Given the description of an element on the screen output the (x, y) to click on. 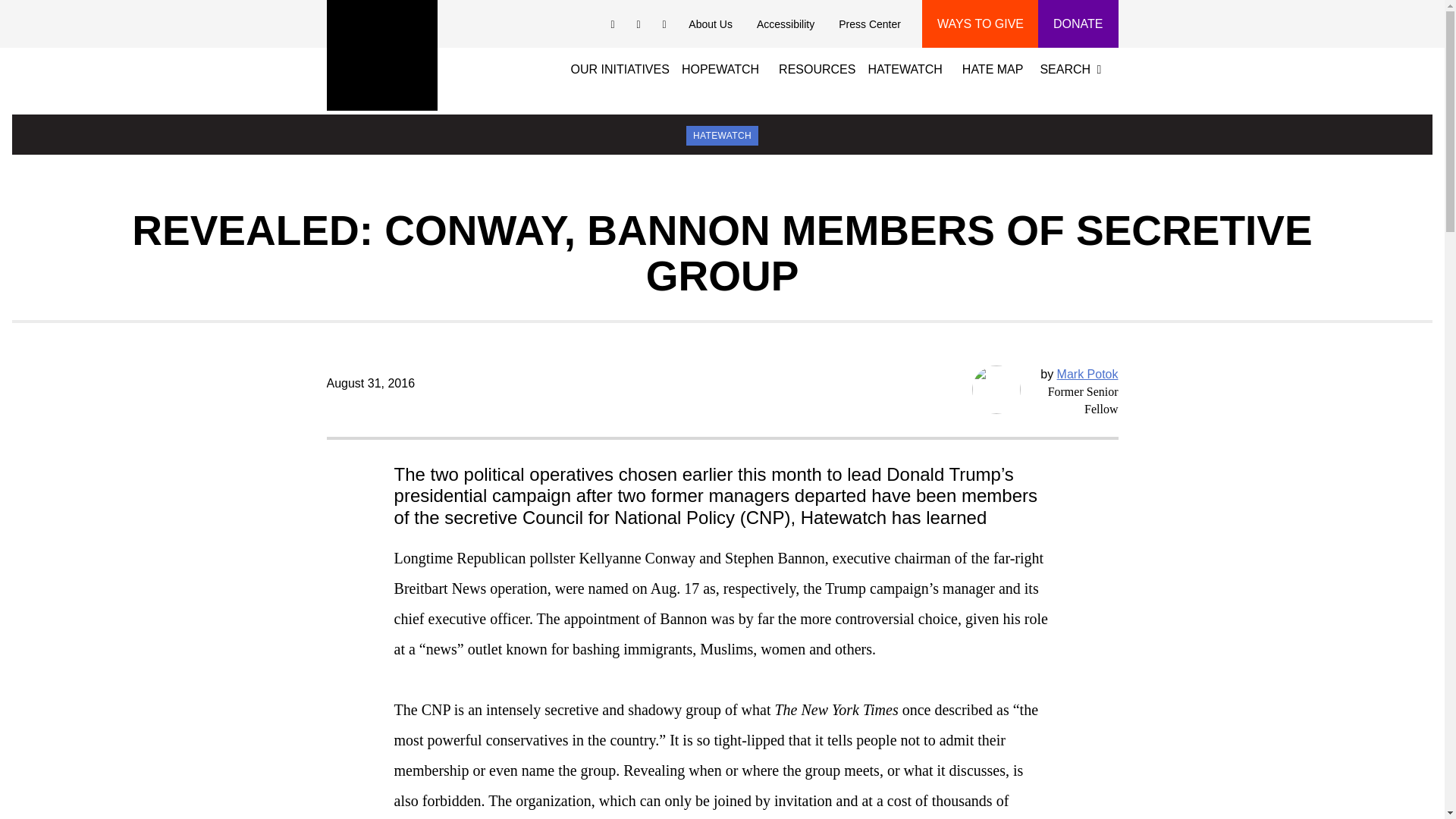
Mark Potok (1087, 373)
HATEWATCH (904, 67)
SEARCH (1073, 67)
RESOURCES (822, 67)
Press Center (869, 24)
About Us (710, 24)
Home (381, 55)
WAYS TO GIVE (980, 23)
HOPEWATCH (720, 67)
SEARCH (1073, 67)
